Given the description of an element on the screen output the (x, y) to click on. 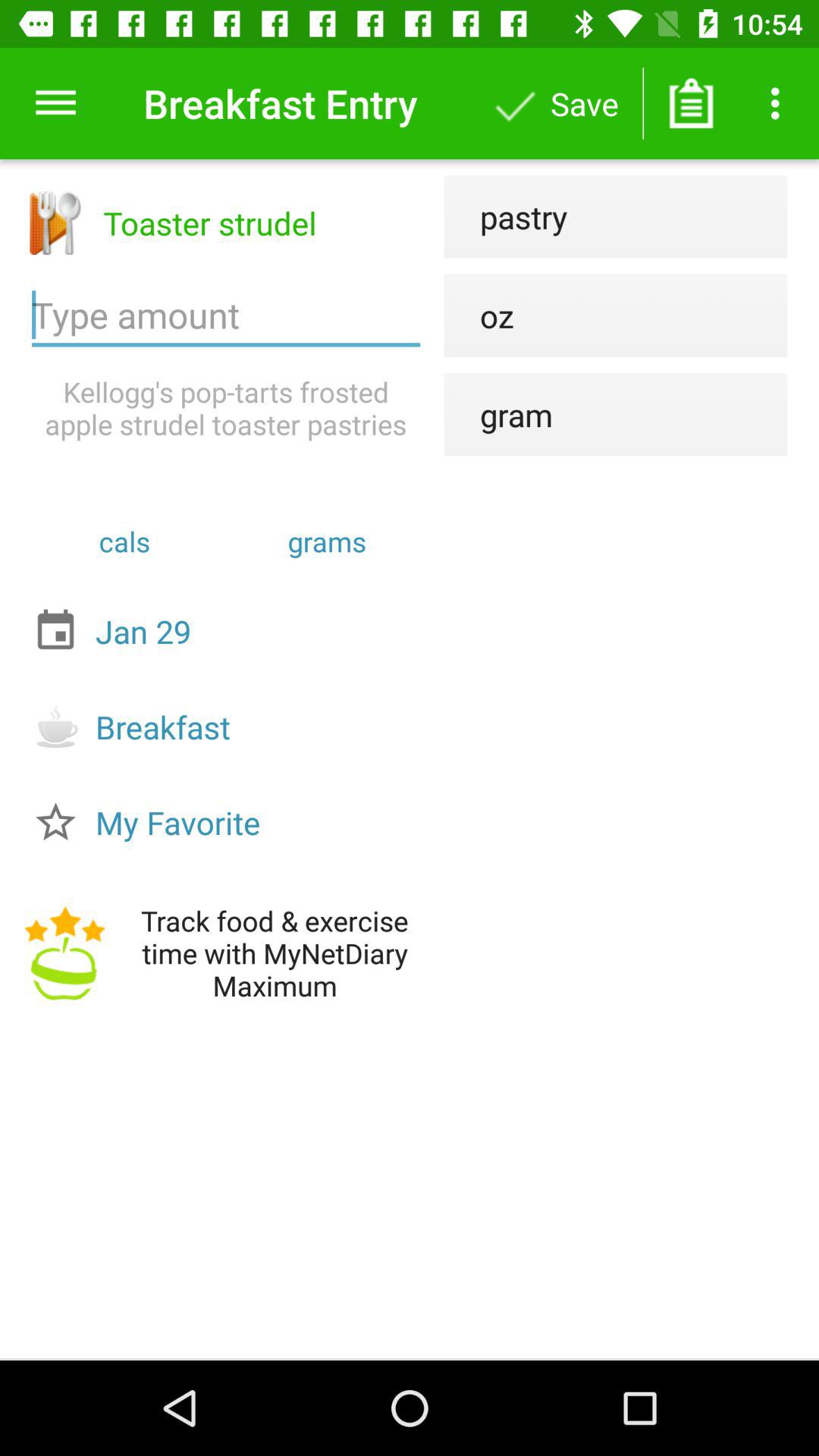
tap the item to the left of breakfast entry (55, 103)
